Given the description of an element on the screen output the (x, y) to click on. 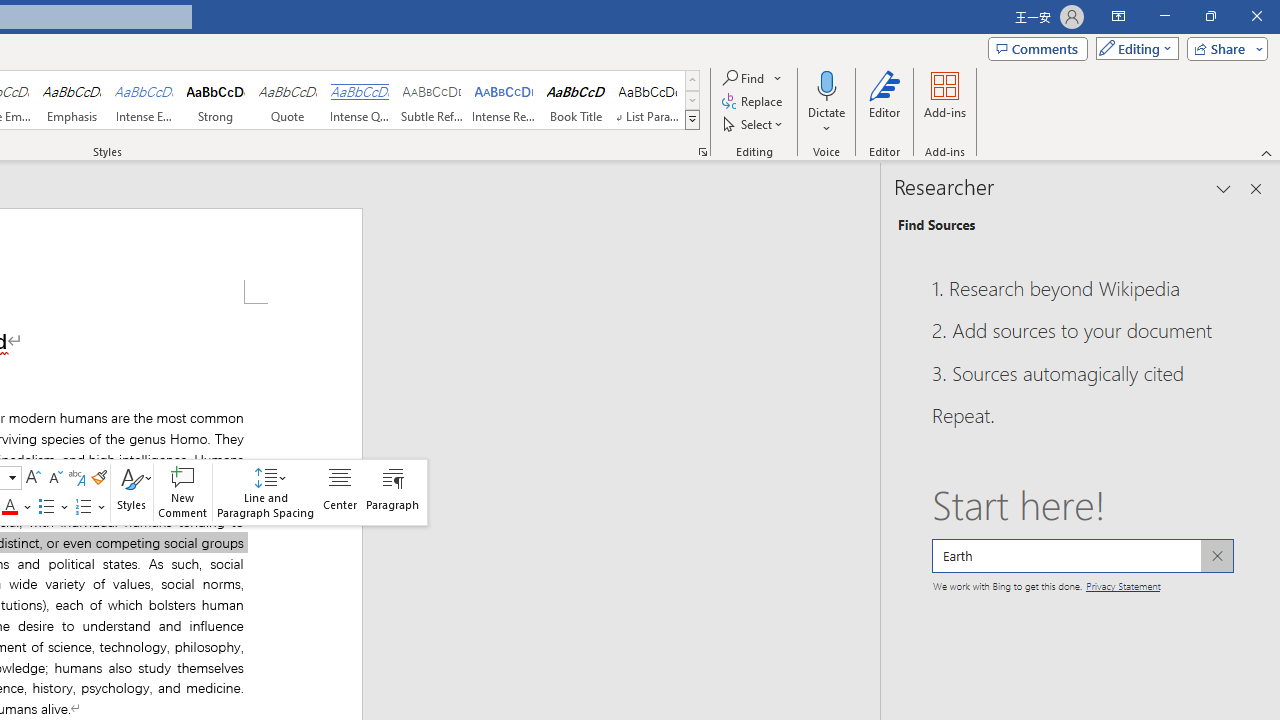
Cancel (1216, 555)
Intense Emphasis (143, 100)
Class: NetUIAnchor (265, 492)
